Given the description of an element on the screen output the (x, y) to click on. 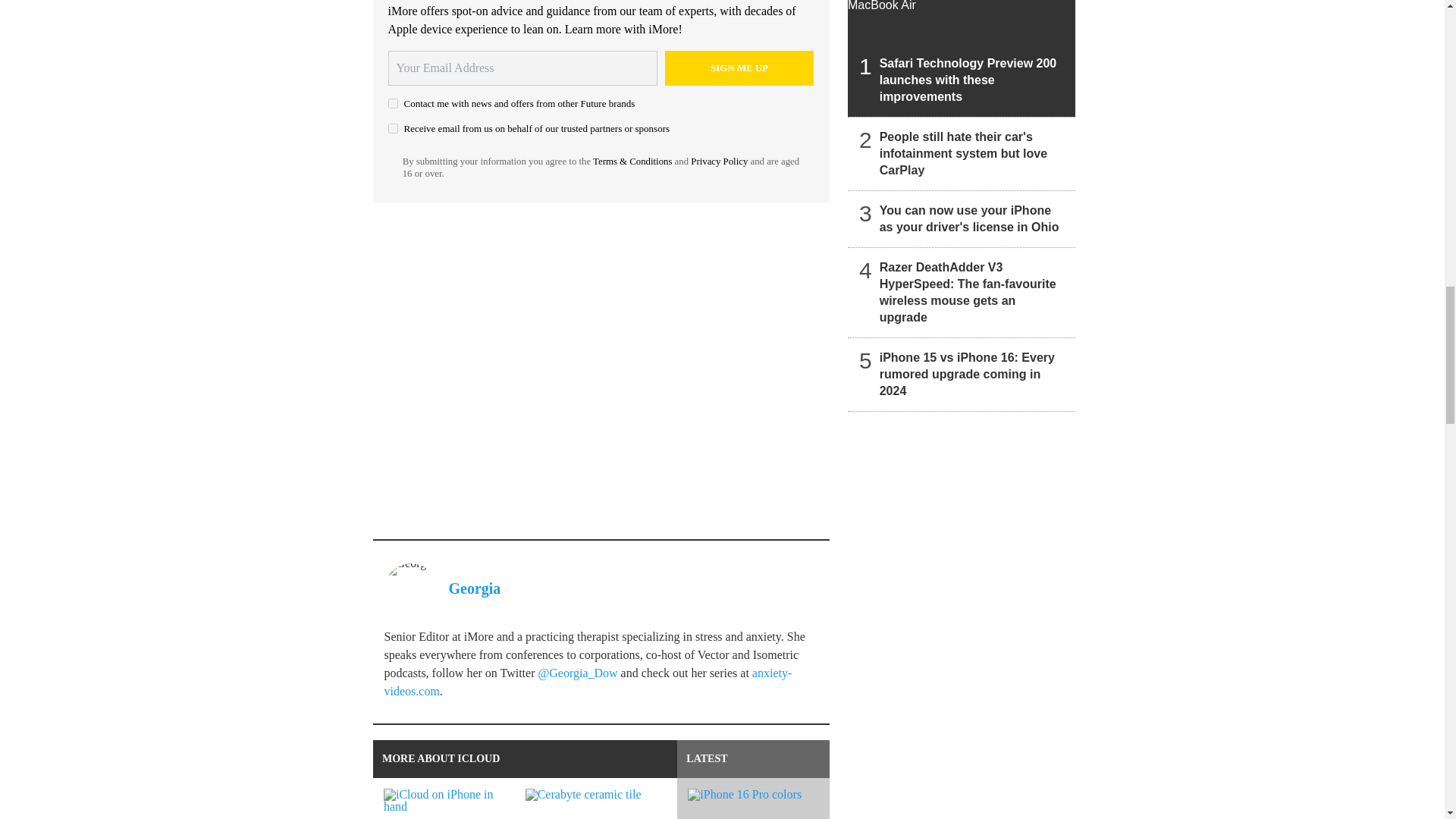
Sign me up (739, 67)
on (392, 128)
on (392, 103)
